Given the description of an element on the screen output the (x, y) to click on. 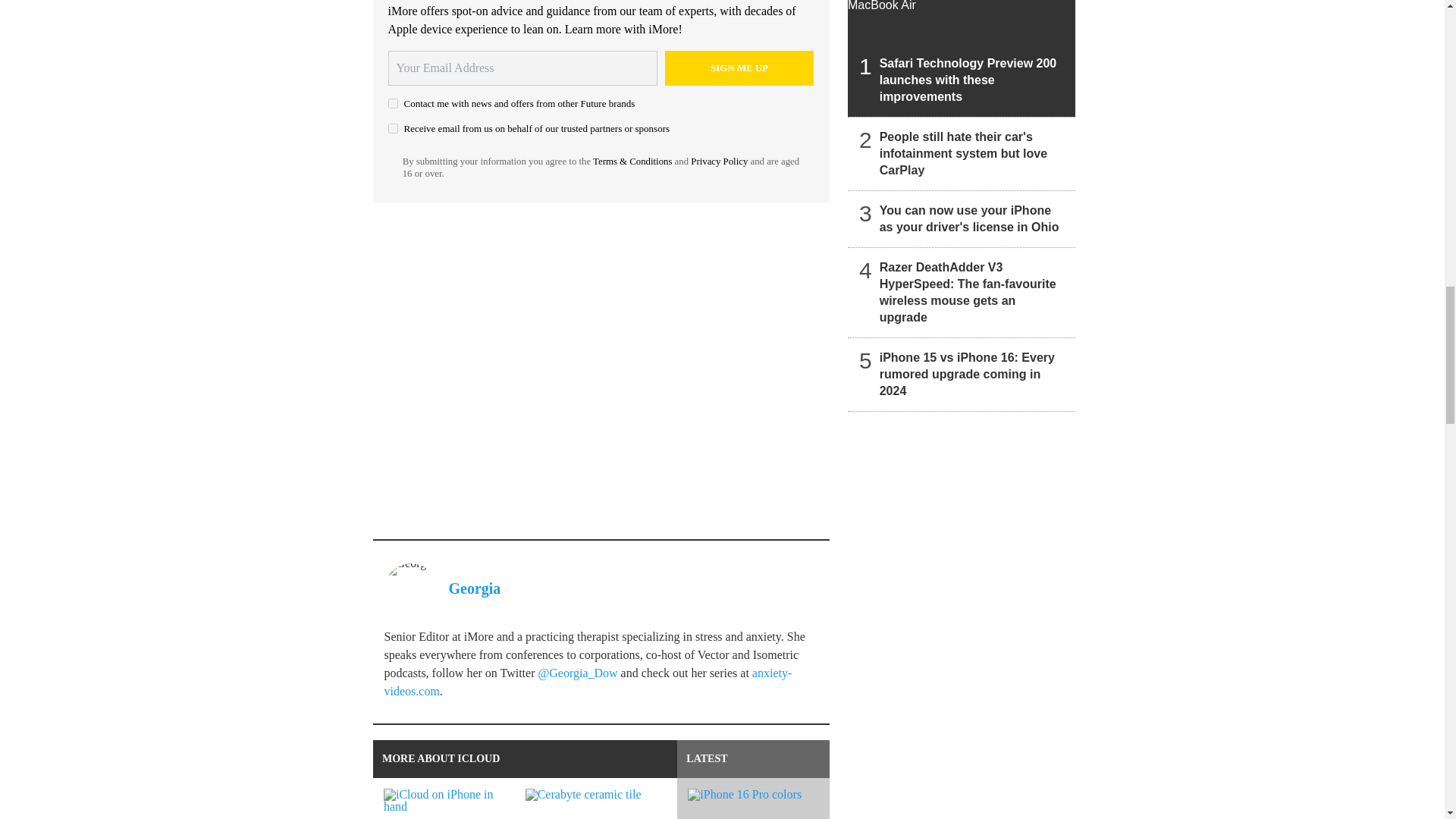
Sign me up (739, 67)
on (392, 128)
on (392, 103)
